Given the description of an element on the screen output the (x, y) to click on. 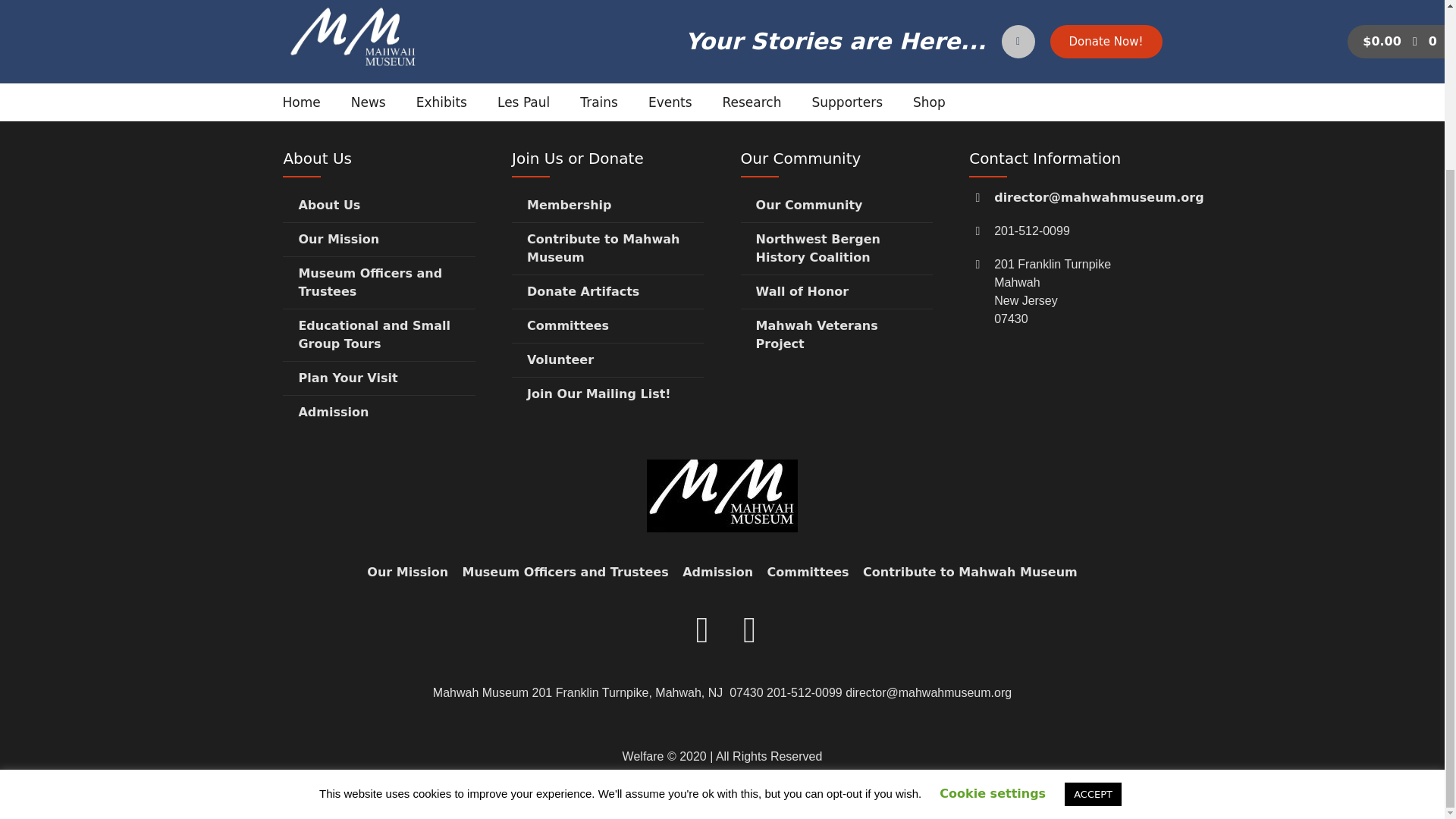
Mahwah Museum (721, 286)
Twitter (702, 426)
Facebook (750, 426)
